Given the description of an element on the screen output the (x, y) to click on. 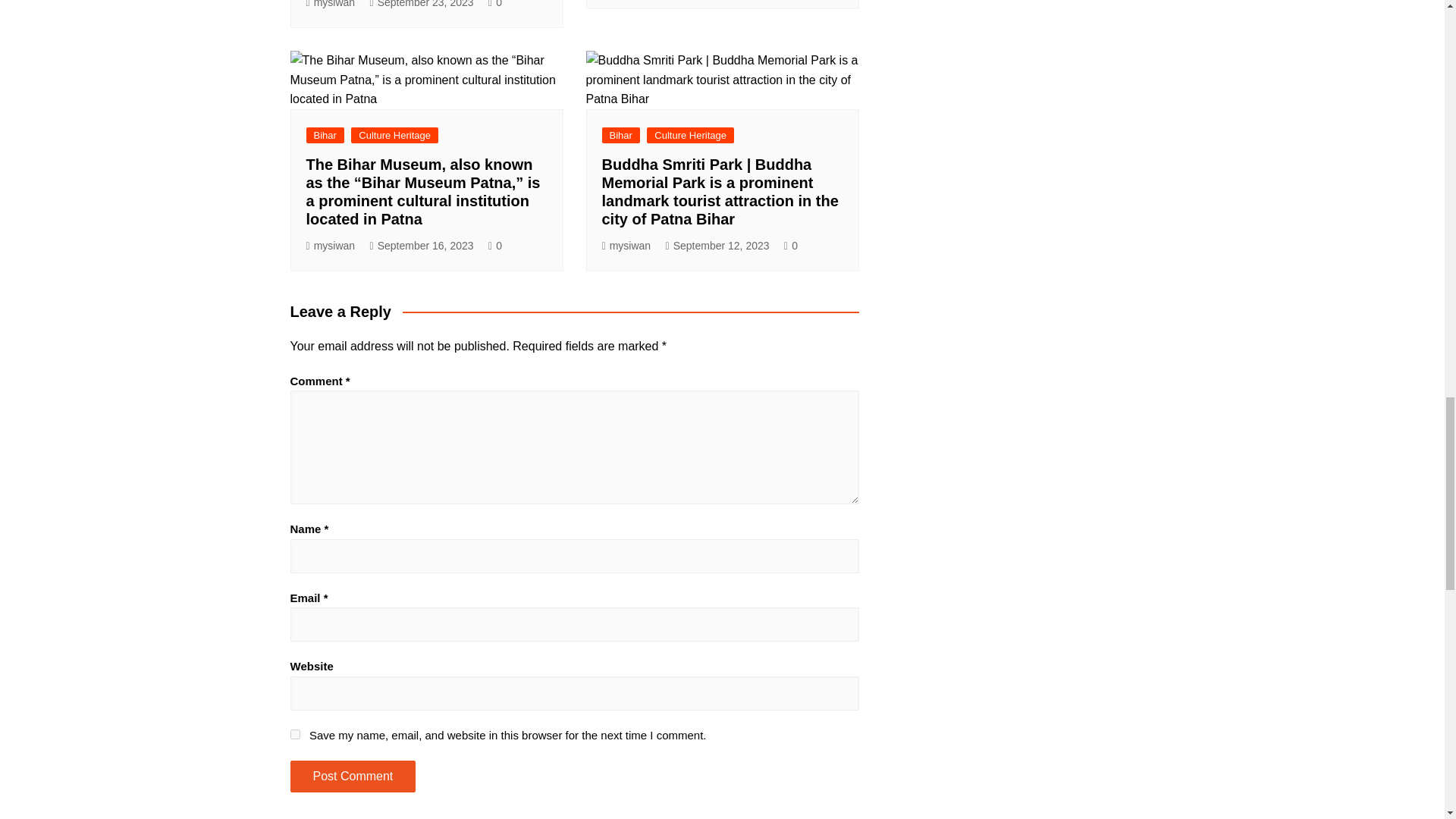
Post Comment (351, 776)
yes (294, 734)
